Given the description of an element on the screen output the (x, y) to click on. 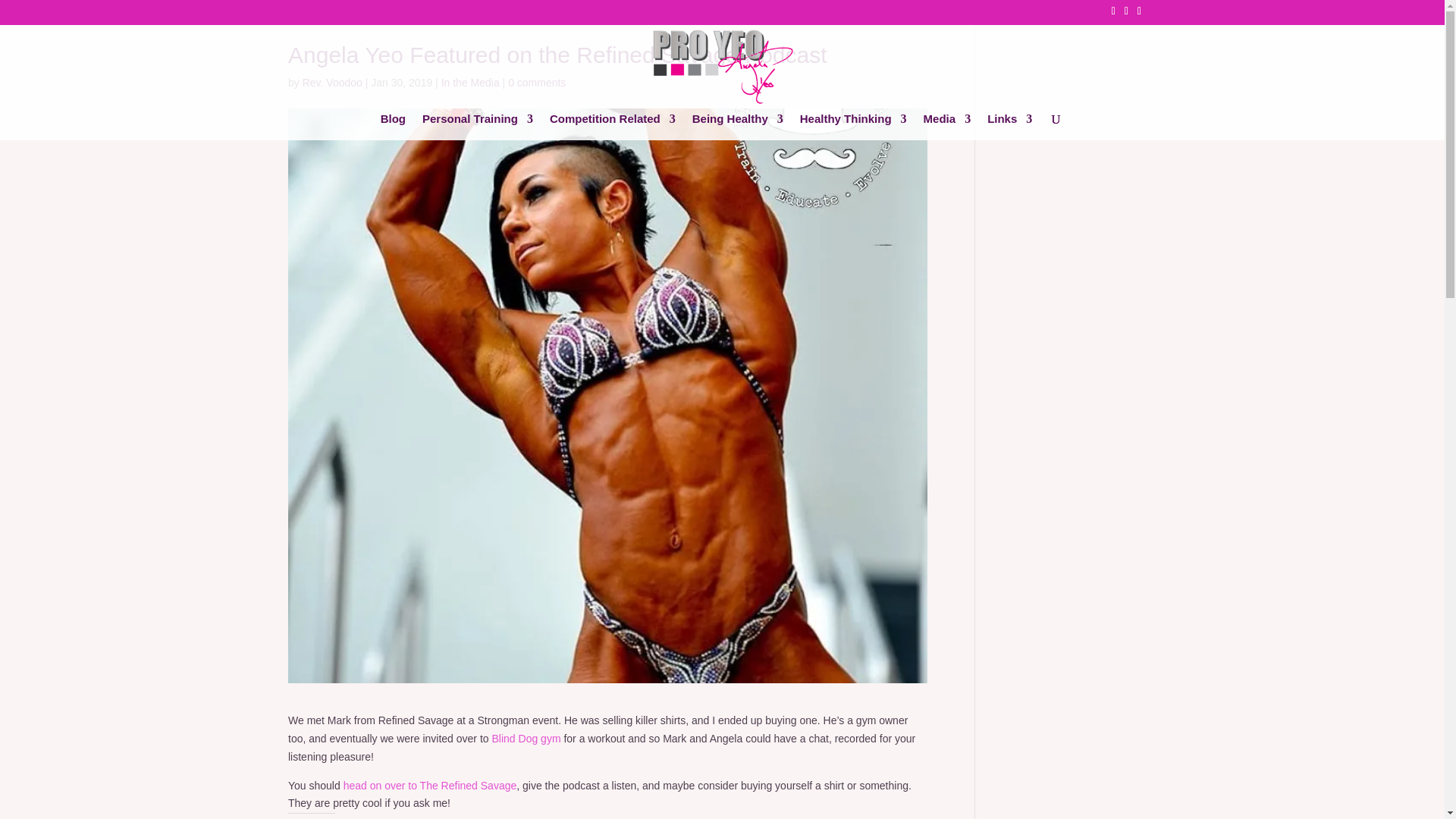
Personal Training (477, 126)
Posts by Rev. Voodoo (332, 82)
Being Healthy (738, 126)
Competition Related (612, 126)
Blog (393, 126)
Links (1009, 126)
Healthy Thinking (853, 126)
Media (947, 126)
